Given the description of an element on the screen output the (x, y) to click on. 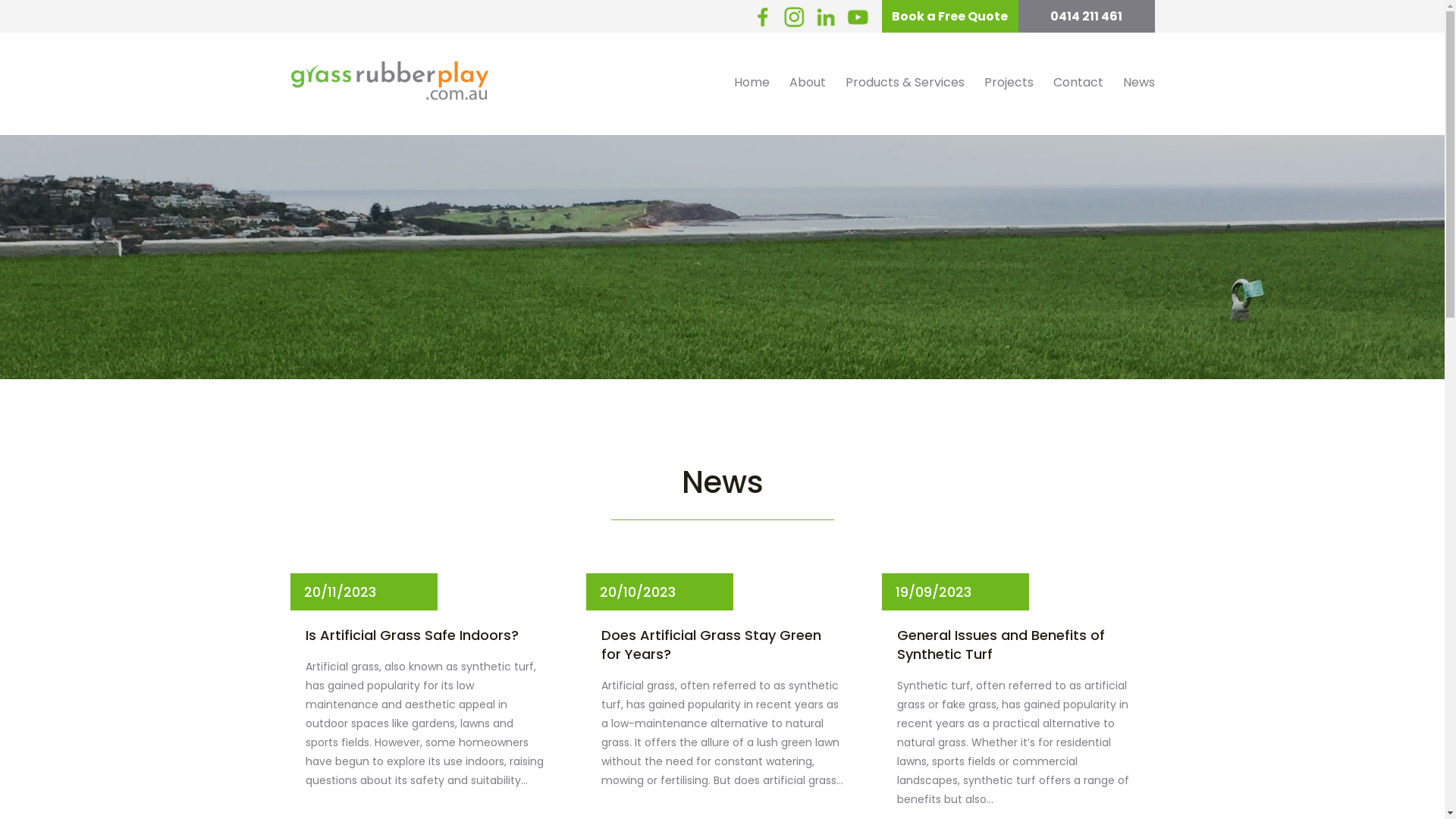
Projects Element type: text (1007, 82)
General Issues and Benefits of Synthetic Turf  Element type: text (1017, 644)
0414 211 461 Element type: text (1085, 16)
Home Element type: text (750, 82)
Book a Free Quote Element type: text (949, 16)
About Element type: text (807, 82)
News Element type: text (1133, 82)
Contact Element type: text (1078, 82)
Products & Services Element type: text (904, 82)
Does Artificial Grass Stay Green for Years? Element type: text (721, 644)
Is Artificial Grass Safe Indoors?  Element type: text (412, 634)
